Given the description of an element on the screen output the (x, y) to click on. 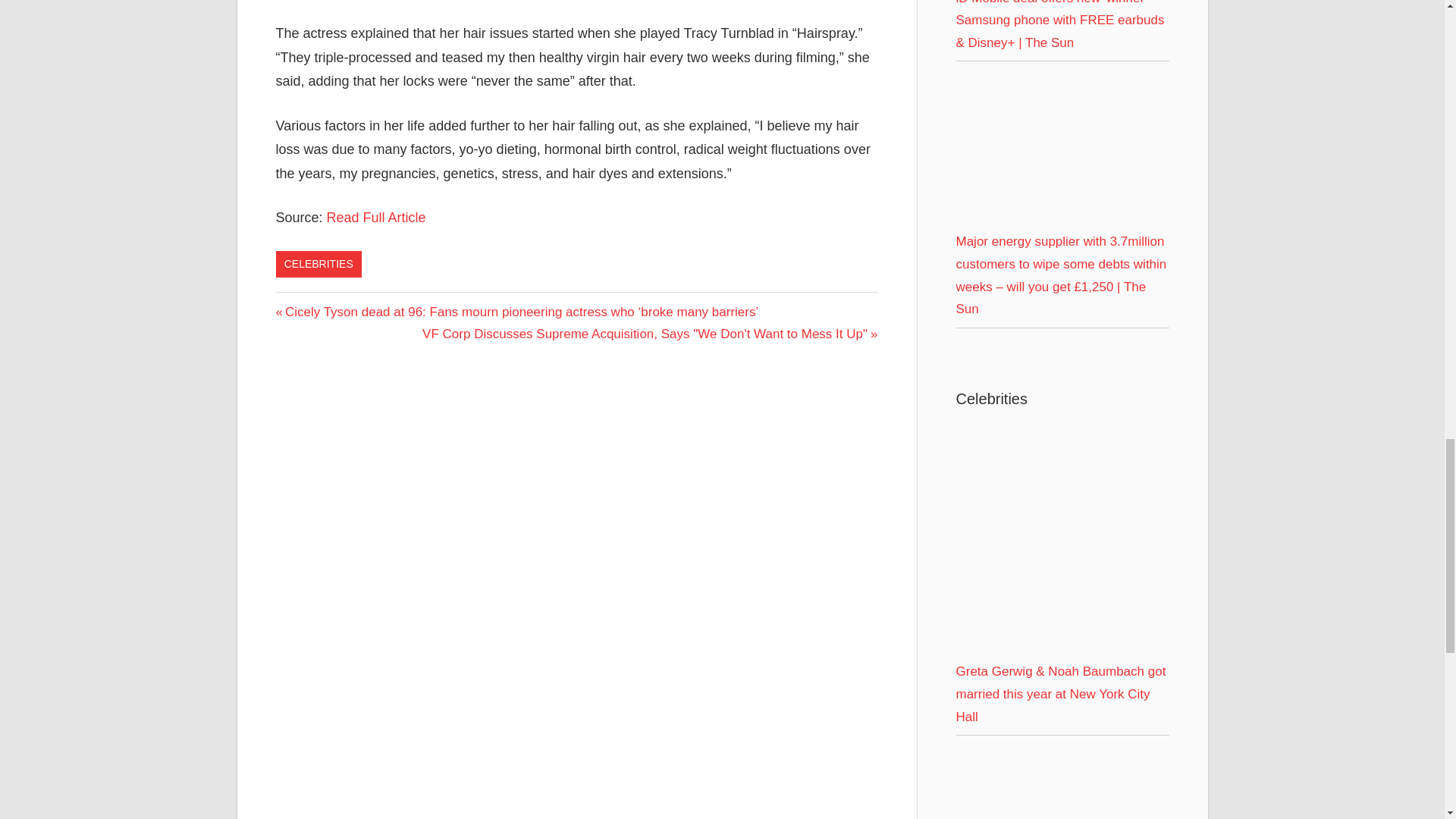
Read Full Article (376, 217)
CELEBRITIES (318, 264)
